Given the description of an element on the screen output the (x, y) to click on. 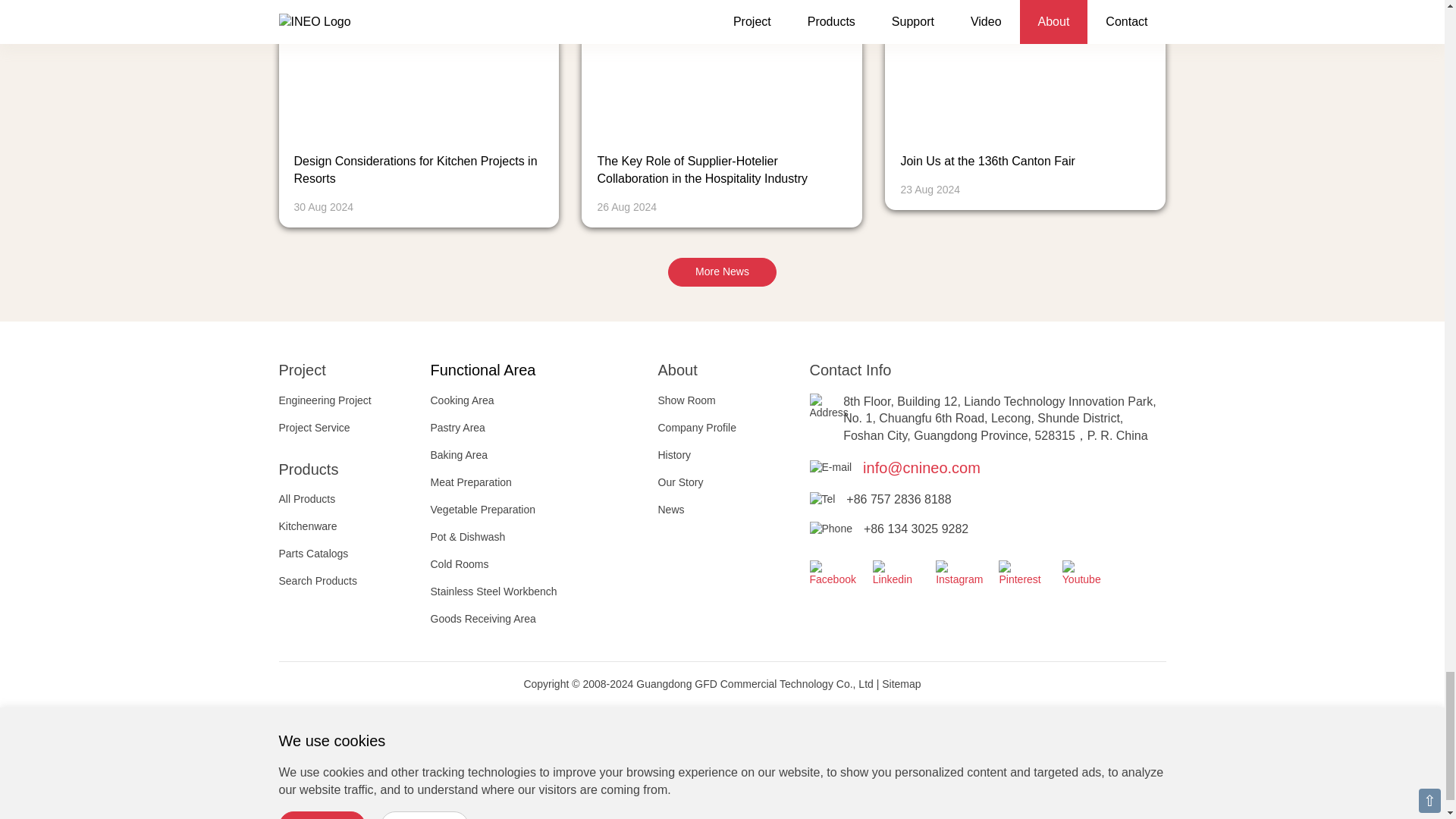
Search Products (318, 580)
Join Us at the 136th Canton Fair (986, 160)
All Products (307, 499)
Project Service (314, 427)
More News (722, 271)
Parts Catalogs (314, 553)
Engineering Project (325, 399)
Functional Area (482, 369)
Design Considerations for Kitchen Projects in Resorts (415, 169)
